Given the description of an element on the screen output the (x, y) to click on. 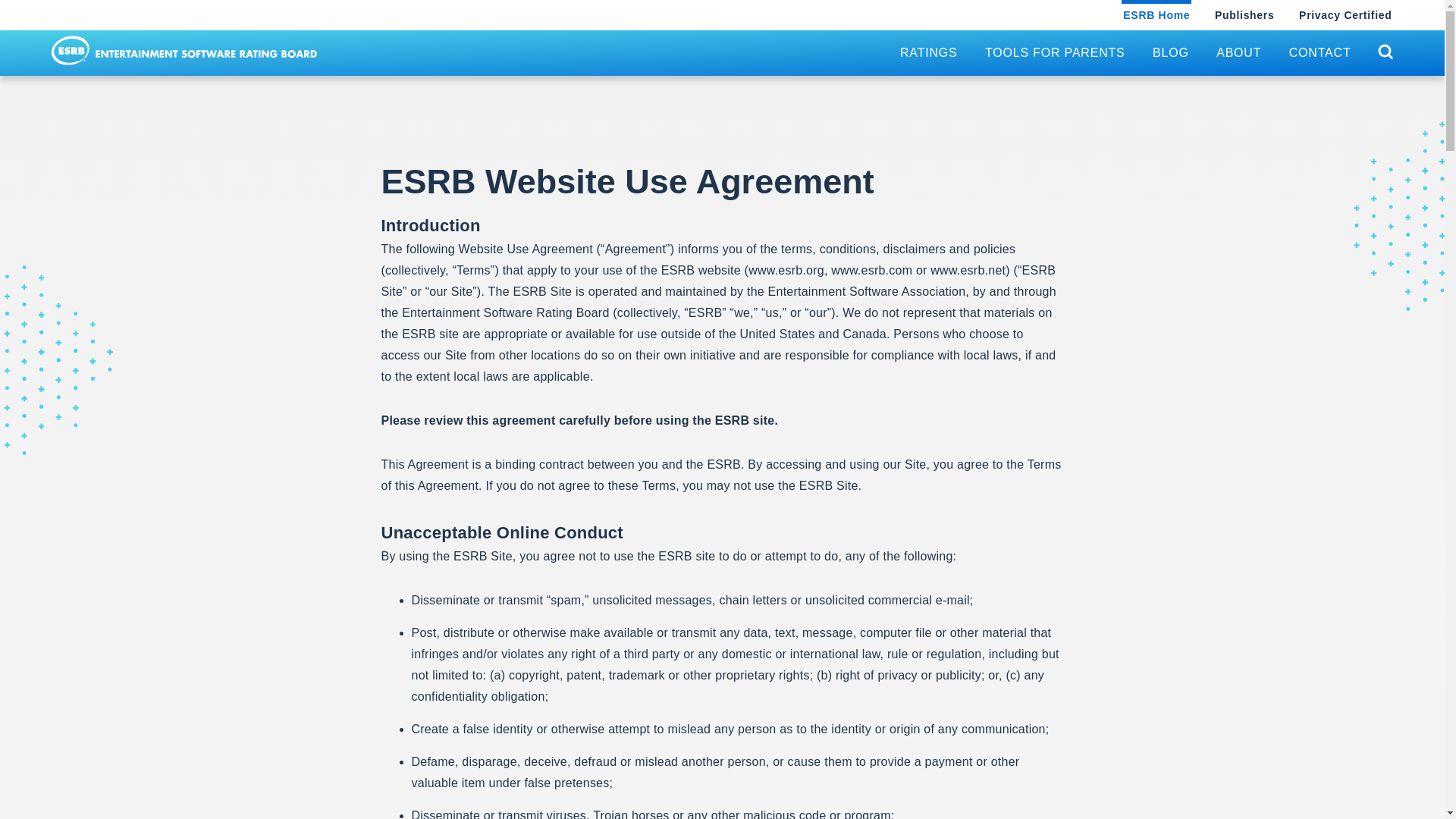
Privacy Certified (1345, 15)
BLOG (1170, 53)
Publishers (1244, 15)
RATINGS (928, 53)
TOOLS FOR PARENTS (1054, 53)
ABOUT (1238, 53)
Homepage (183, 50)
ESRB Home (1156, 15)
CONTACT (1319, 53)
